Given the description of an element on the screen output the (x, y) to click on. 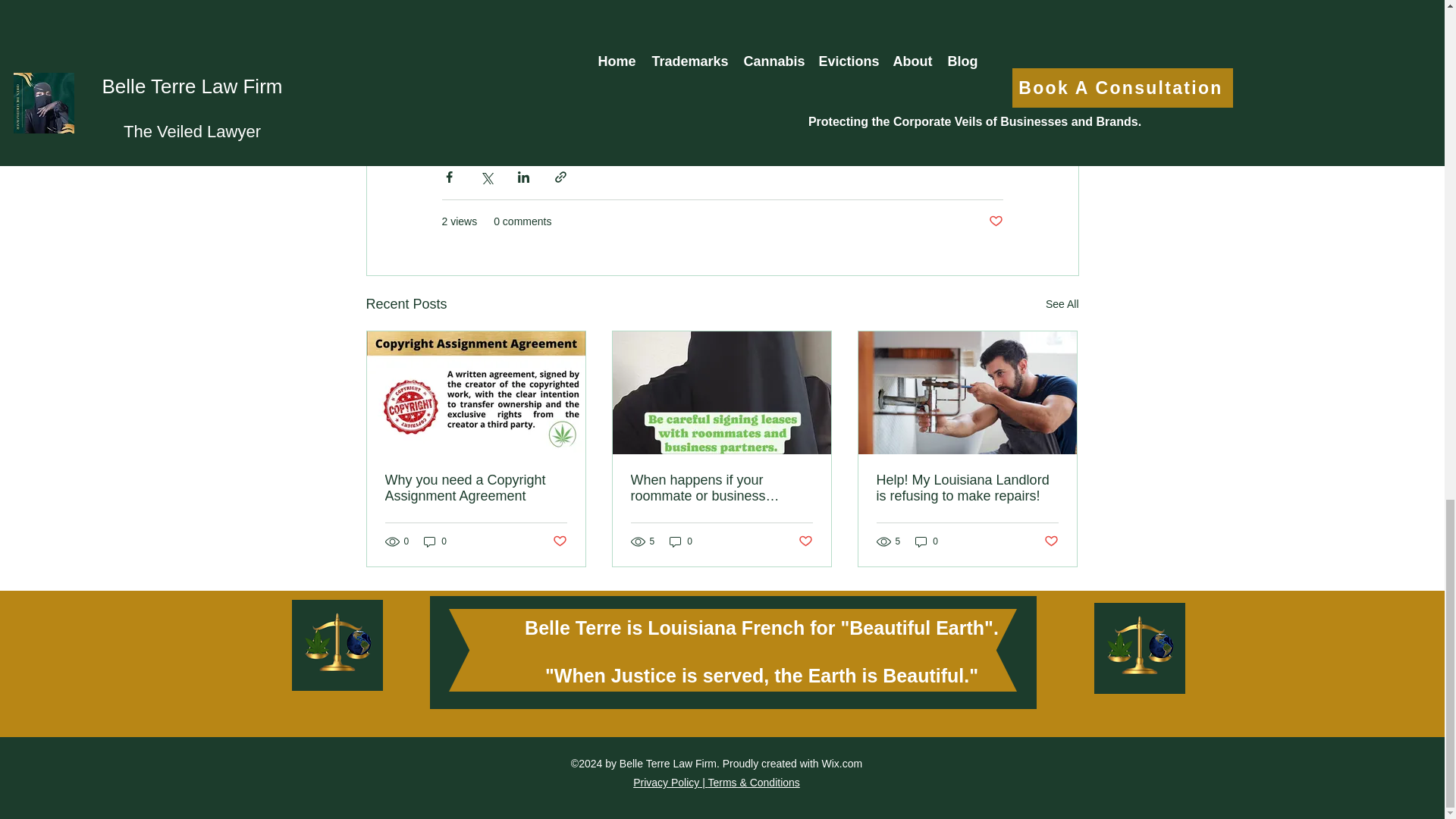
0 (926, 540)
Help! My Louisiana Landlord is refusing to make repairs! (967, 488)
Post not marked as liked (804, 541)
Privacy Policy (665, 782)
0 (681, 540)
Post not marked as liked (995, 221)
Why you need a Copyright Assignment Agreement (476, 488)
Post not marked as liked (1050, 541)
See All (1061, 304)
